Given the description of an element on the screen output the (x, y) to click on. 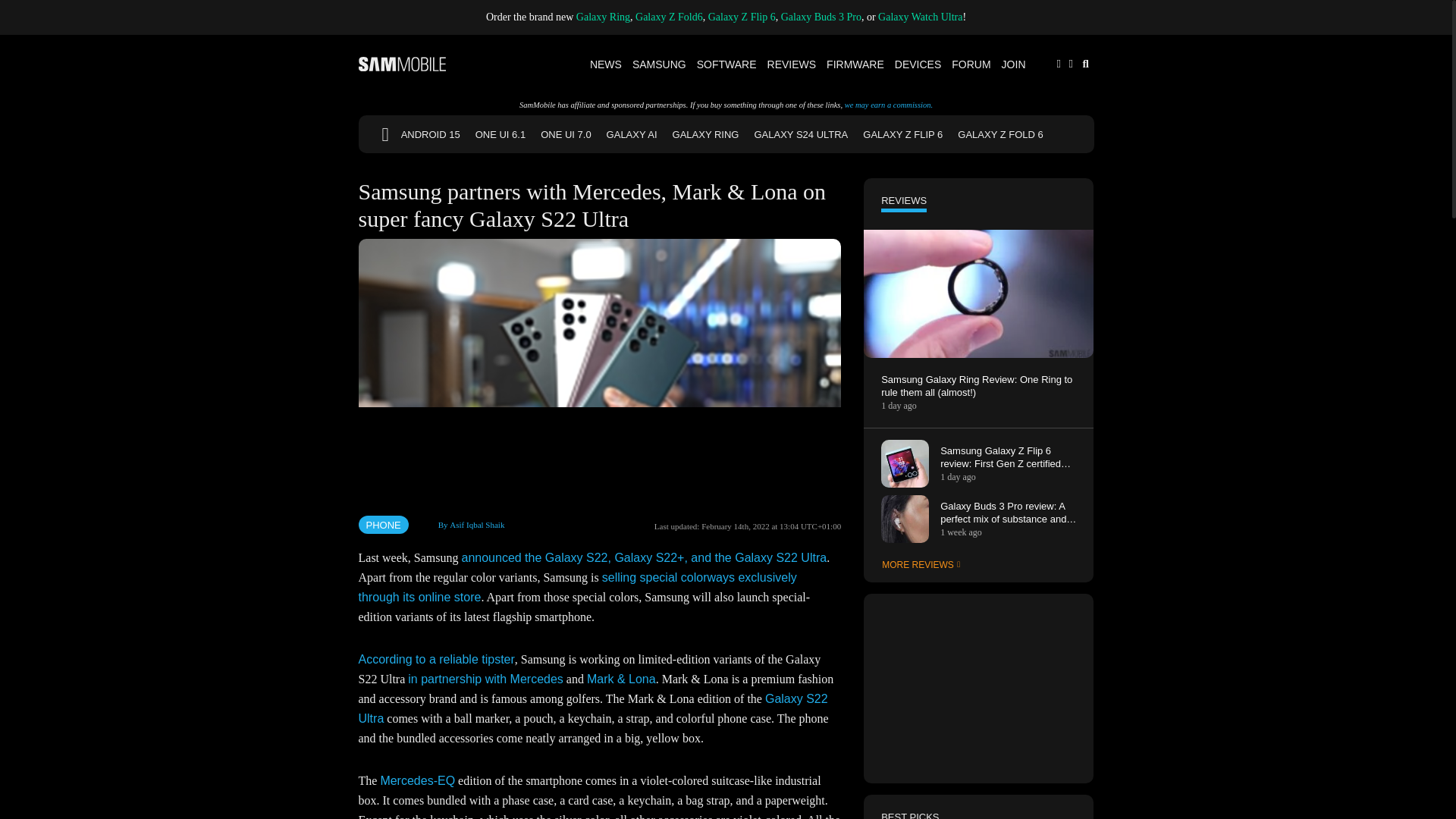
Samsung (659, 64)
Galaxy Z Flip 6 (741, 16)
Galaxy Buds 3 Pro (820, 16)
SamMobile logo (401, 63)
Galaxy Watch Ultra (919, 16)
Galaxy Ring (603, 16)
SAMSUNG (659, 64)
Galaxy Z Fold6 (668, 16)
